Given the description of an element on the screen output the (x, y) to click on. 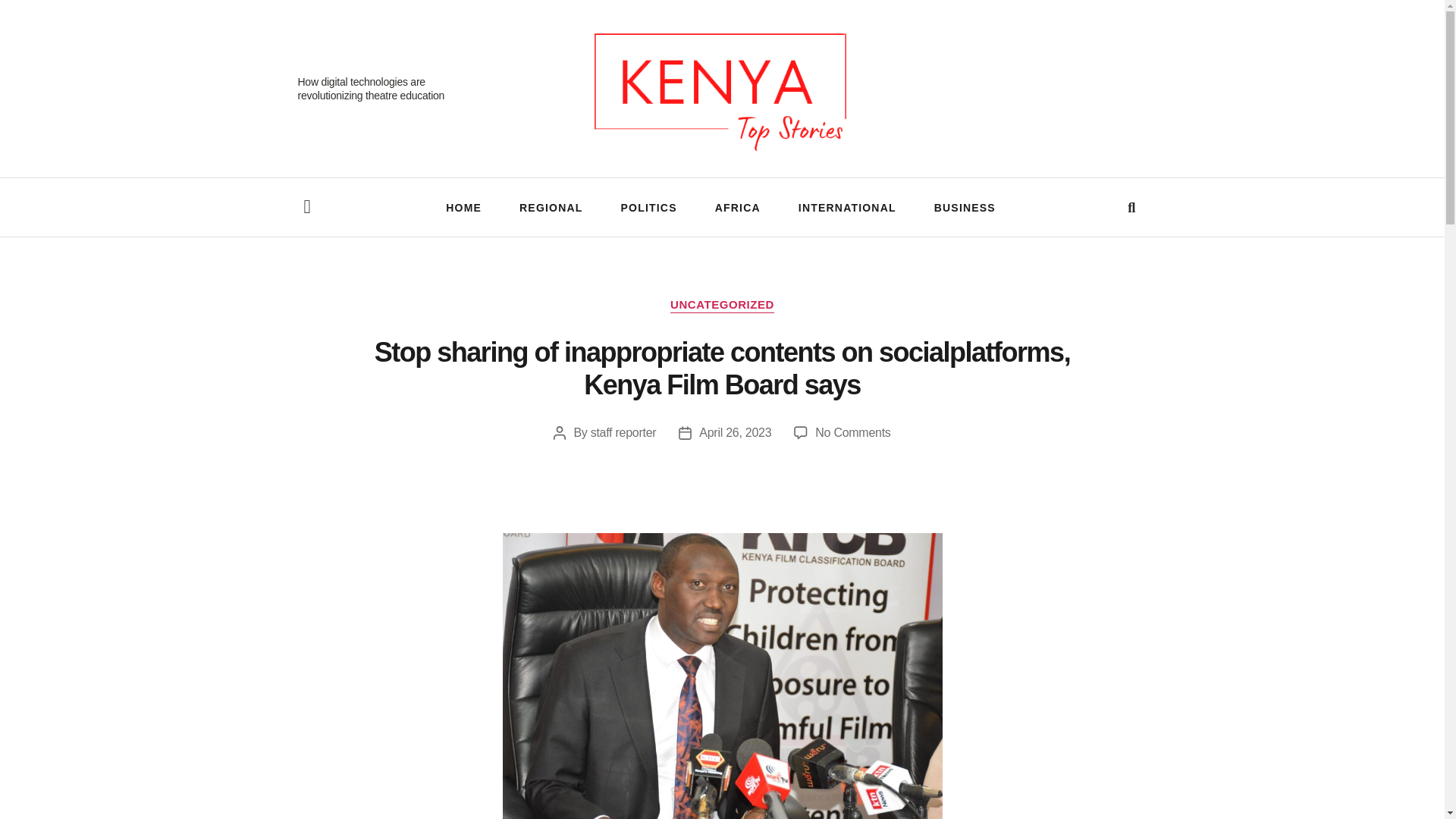
REGIONAL (551, 206)
staff reporter (623, 431)
AFRICA (737, 206)
INTERNATIONAL (846, 206)
April 26, 2023 (734, 431)
POLITICS (649, 206)
BUSINESS (964, 206)
HOME (463, 206)
No Comments (852, 431)
UNCATEGORIZED (721, 305)
